Given the description of an element on the screen output the (x, y) to click on. 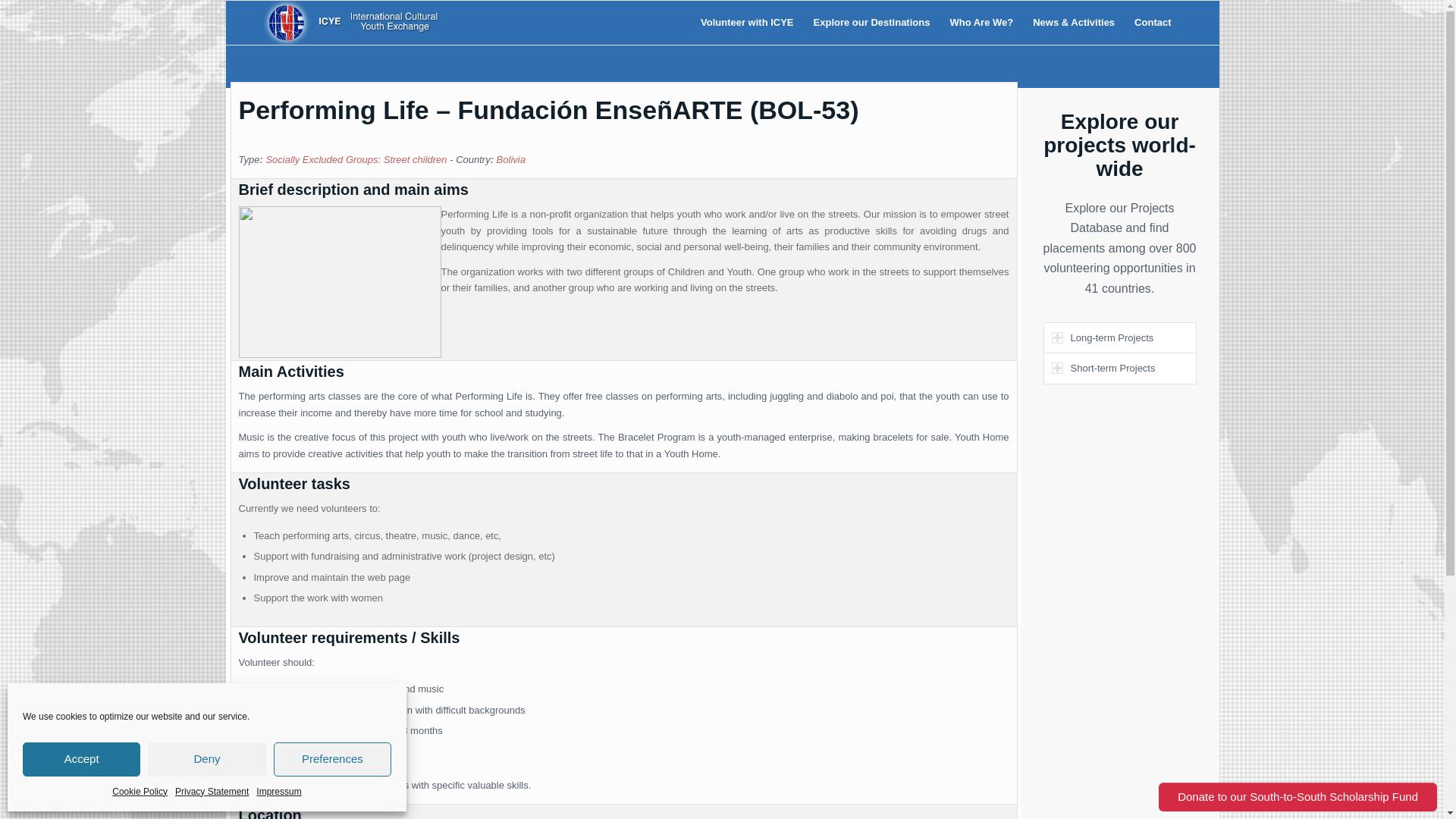
Volunteer with ICYE (746, 22)
Accept (81, 759)
Bolivia (510, 159)
Deny (206, 759)
Privacy Statement (211, 791)
Explore our Destinations (871, 22)
Preferences (332, 759)
Socially Excluded Groups: Street children (355, 159)
Cookie Policy (139, 791)
Impressum (278, 791)
